Given the description of an element on the screen output the (x, y) to click on. 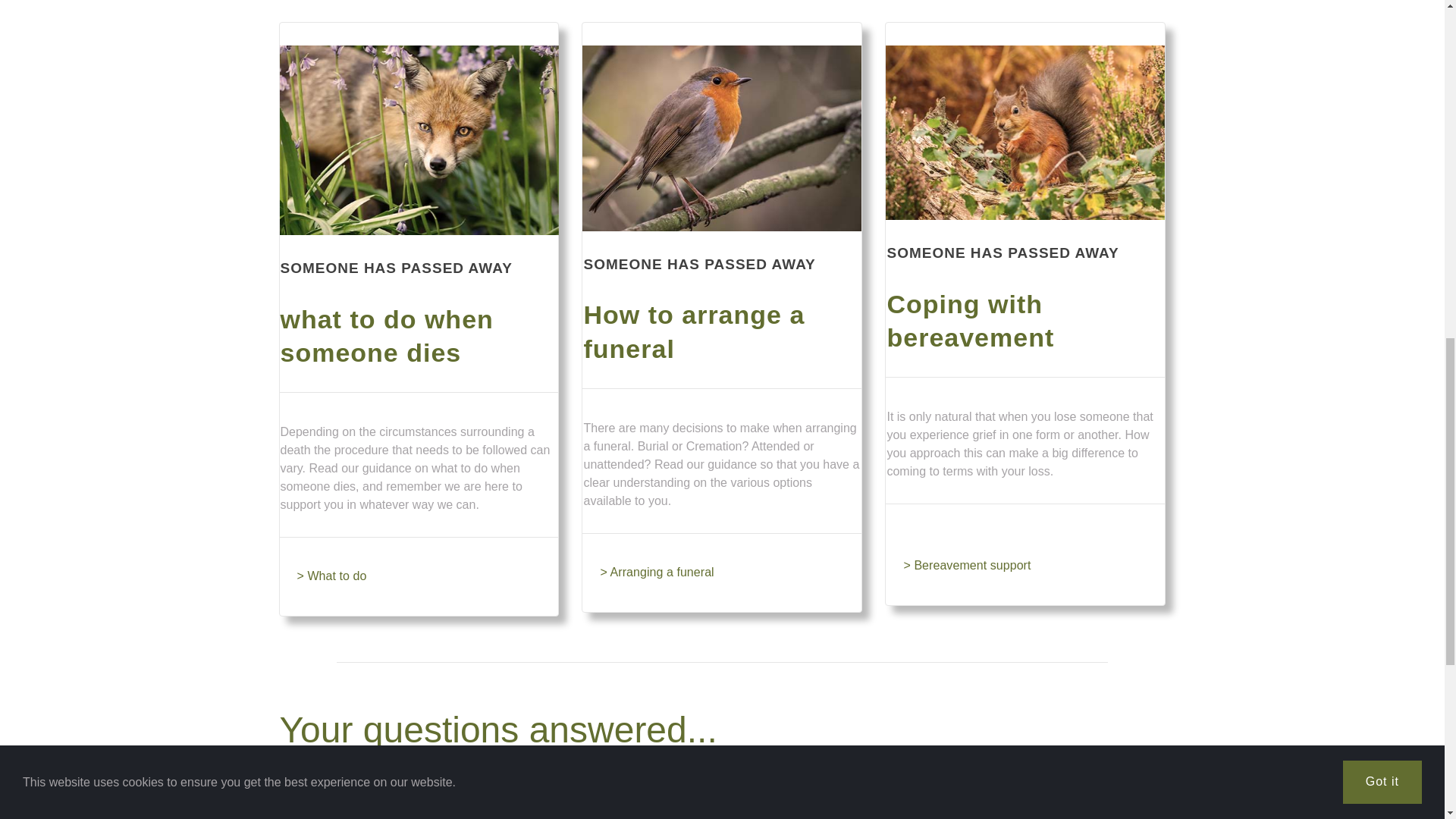
0121 387 2593 (999, 784)
